Given the description of an element on the screen output the (x, y) to click on. 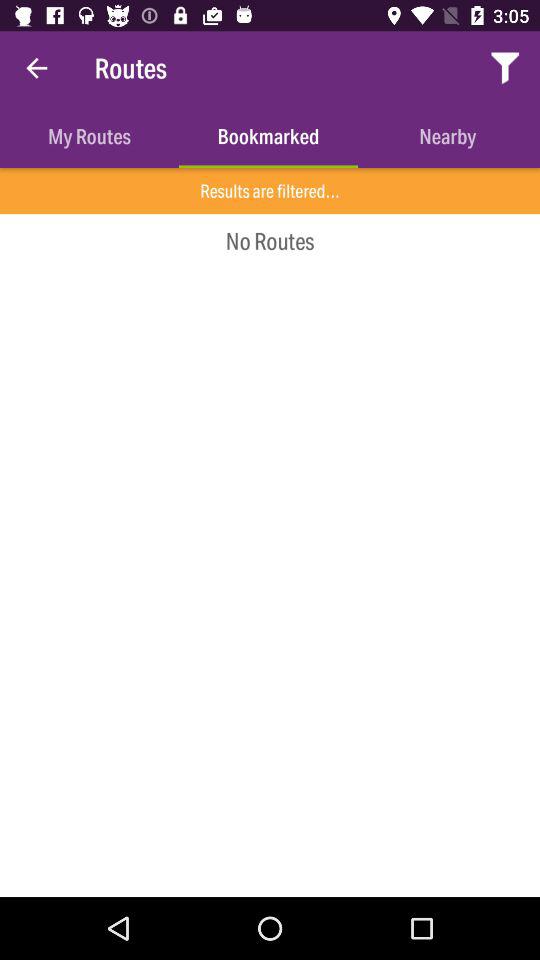
tap the icon to the right of routes item (505, 67)
